Given the description of an element on the screen output the (x, y) to click on. 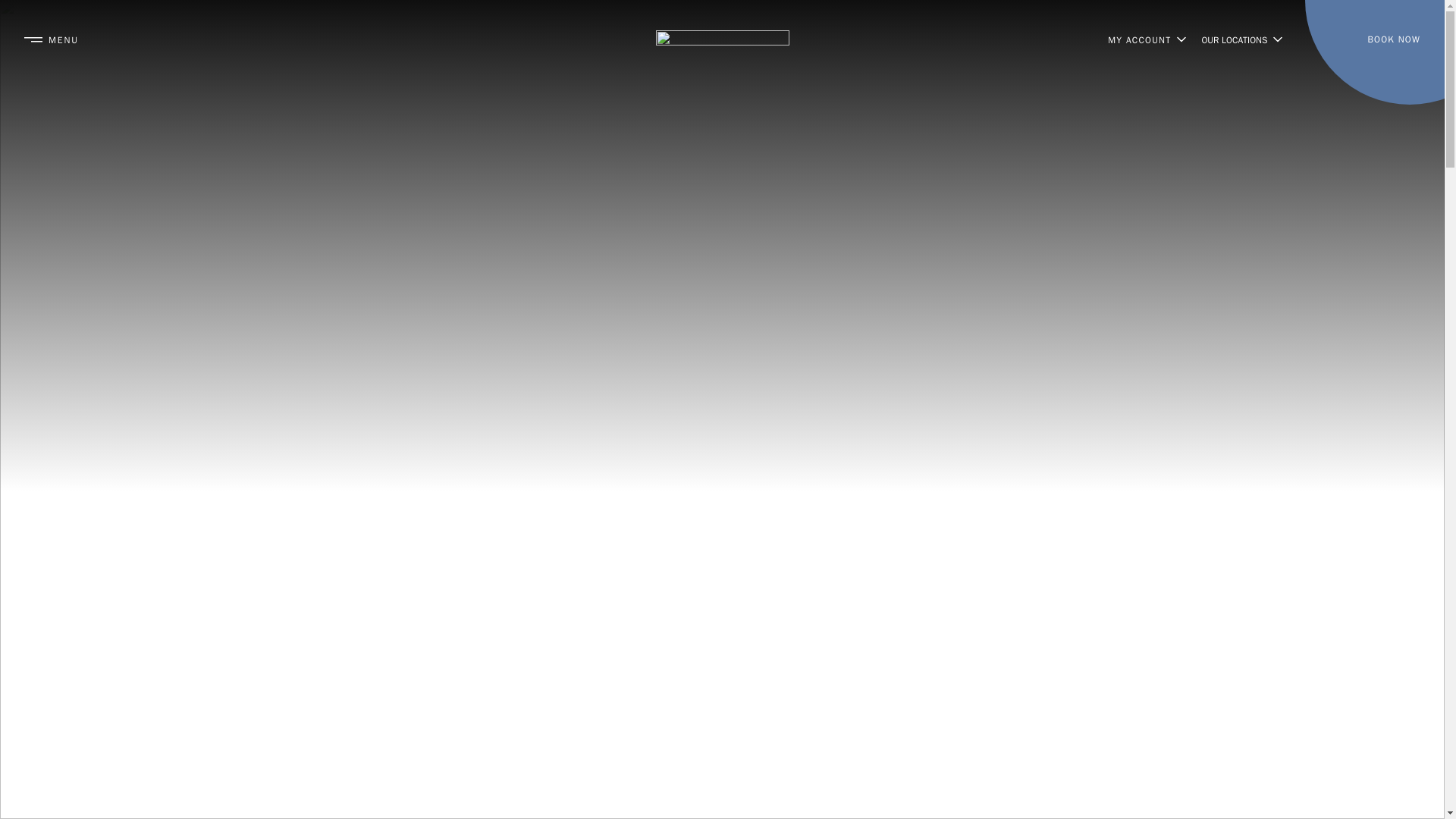
OUR LOCATIONS (1241, 39)
MENU (51, 39)
Home (722, 39)
MY ACCOUNT (1147, 39)
